Given the description of an element on the screen output the (x, y) to click on. 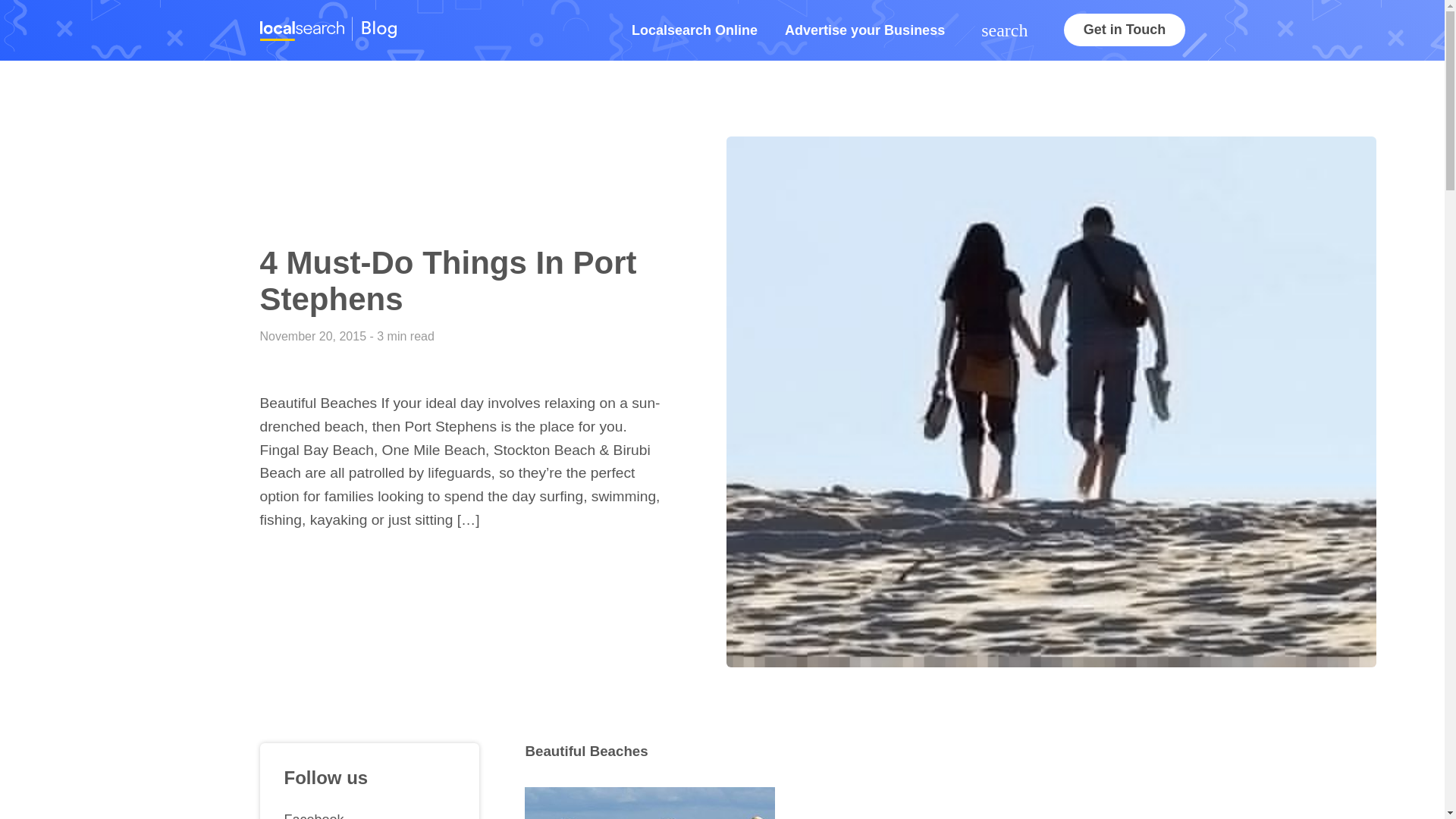
Facebook (368, 810)
Advertise your Business (864, 29)
Get in Touch (1124, 29)
Localsearch Online (694, 29)
